Given the description of an element on the screen output the (x, y) to click on. 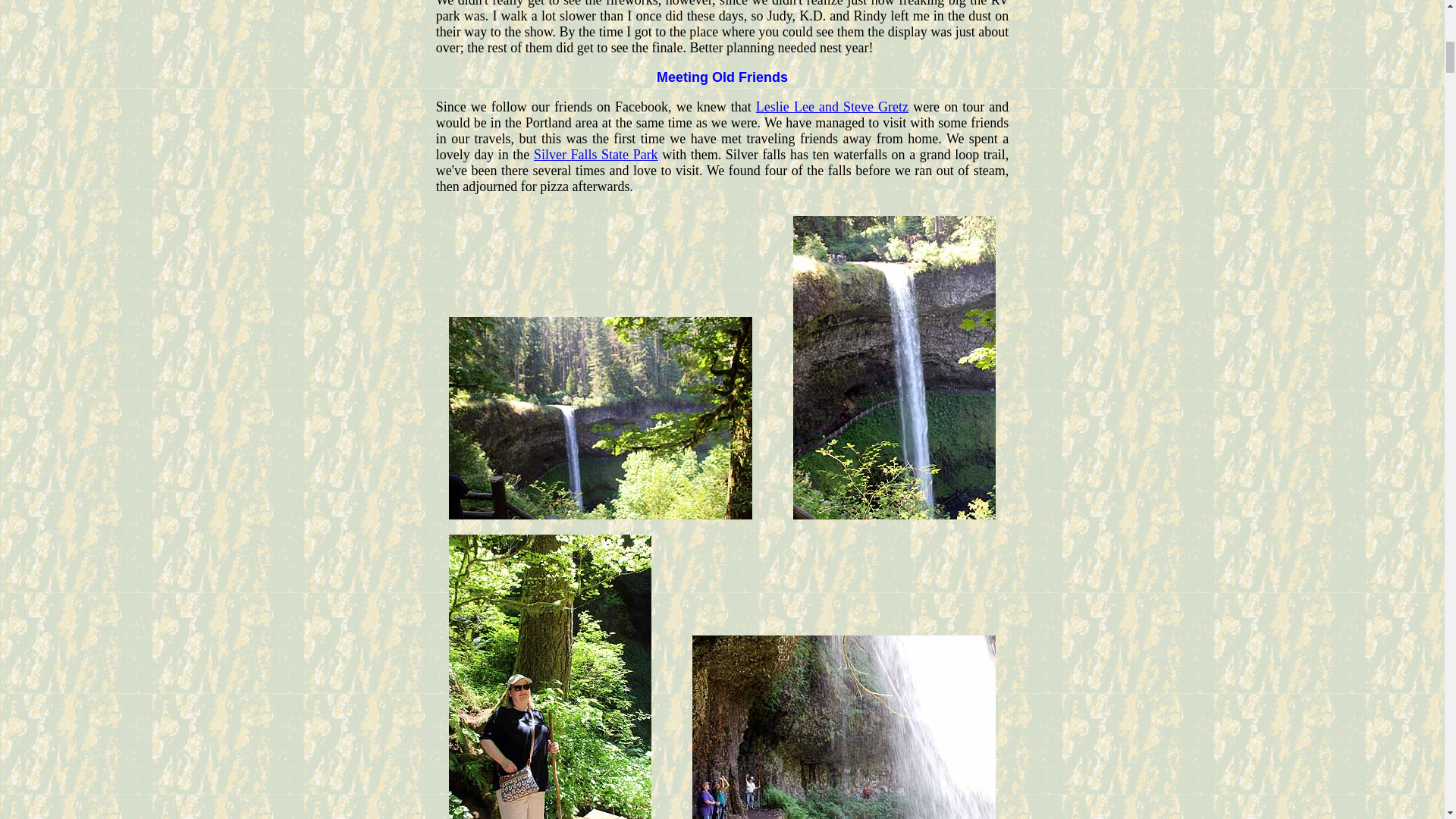
Leslie Lee and Steve Gretz (831, 106)
Silver Falls State Park (596, 154)
